Given the description of an element on the screen output the (x, y) to click on. 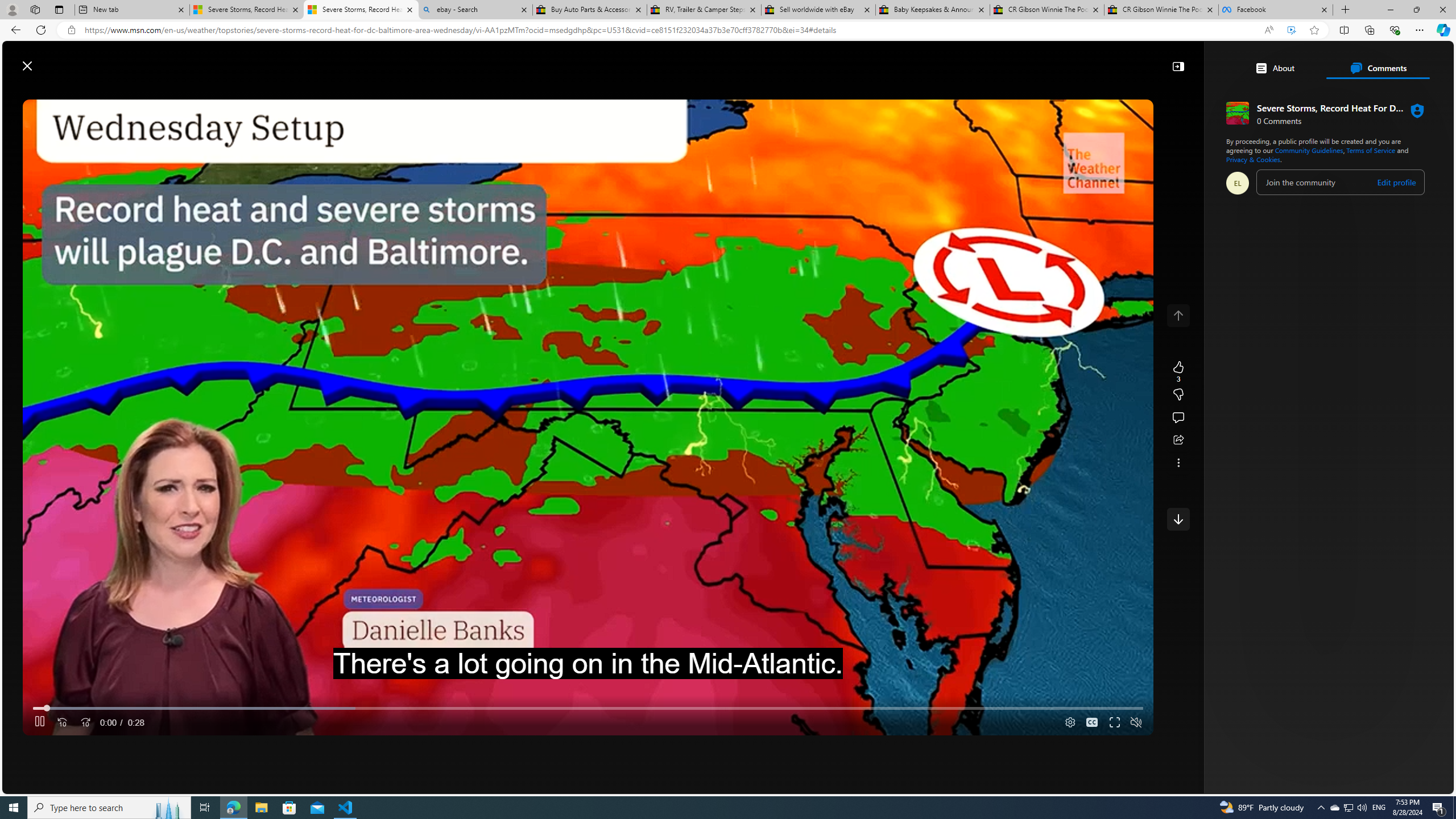
Following (373, 92)
Ad (1162, 601)
Comments (1377, 67)
Facebook (1276, 9)
Discover (322, 92)
Dislike (1178, 394)
Forge of Empires (1198, 249)
Web search (526, 60)
Unmute (1136, 722)
